Given the description of an element on the screen output the (x, y) to click on. 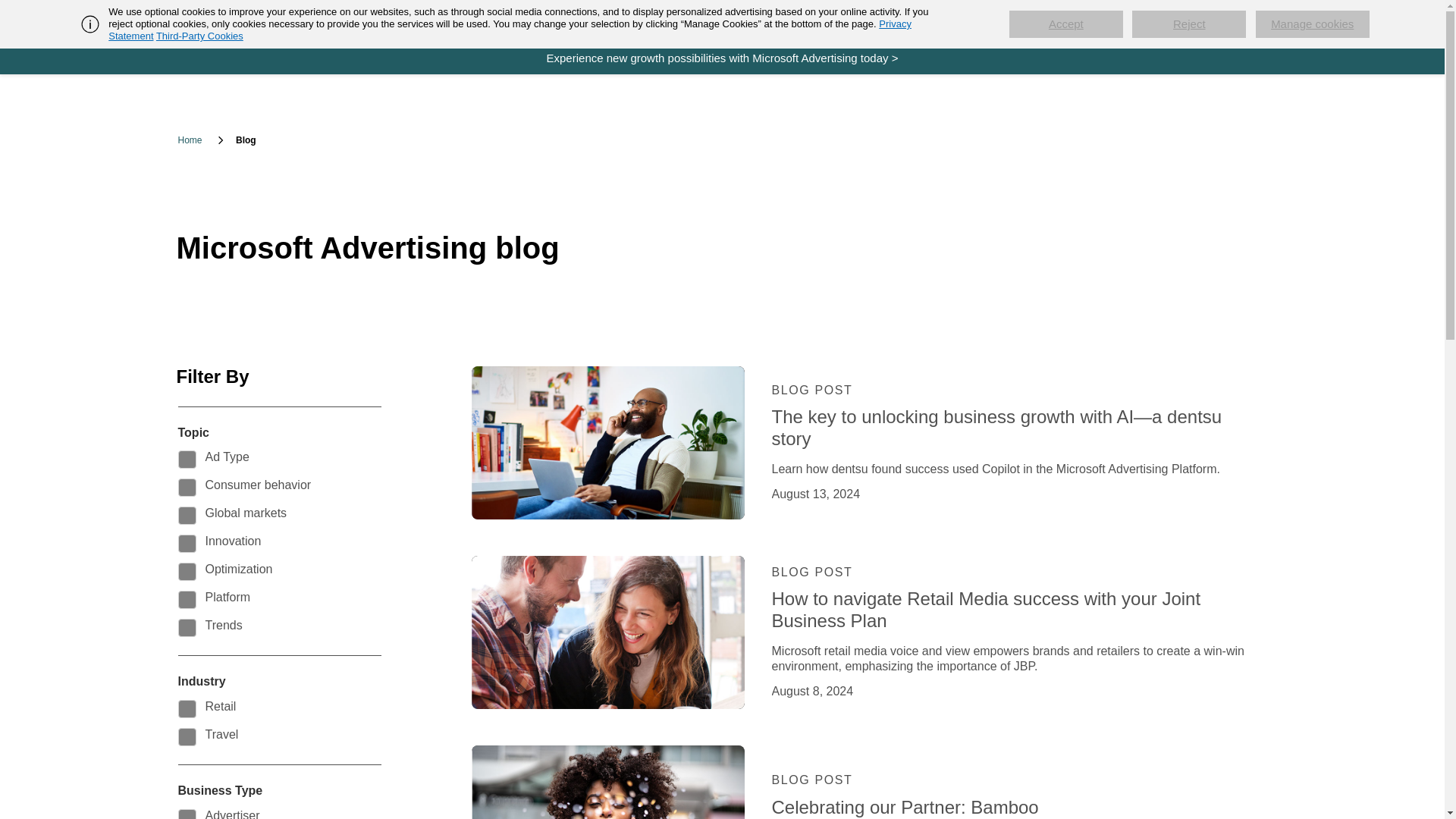
Privacy Statement (509, 29)
Microsoft (255, 20)
Get started (377, 20)
Accept (1065, 23)
Solutions (453, 20)
Reject (1189, 23)
Third-Party Cookies (199, 35)
Manage cookies (1312, 23)
Tools (517, 20)
